Given the description of an element on the screen output the (x, y) to click on. 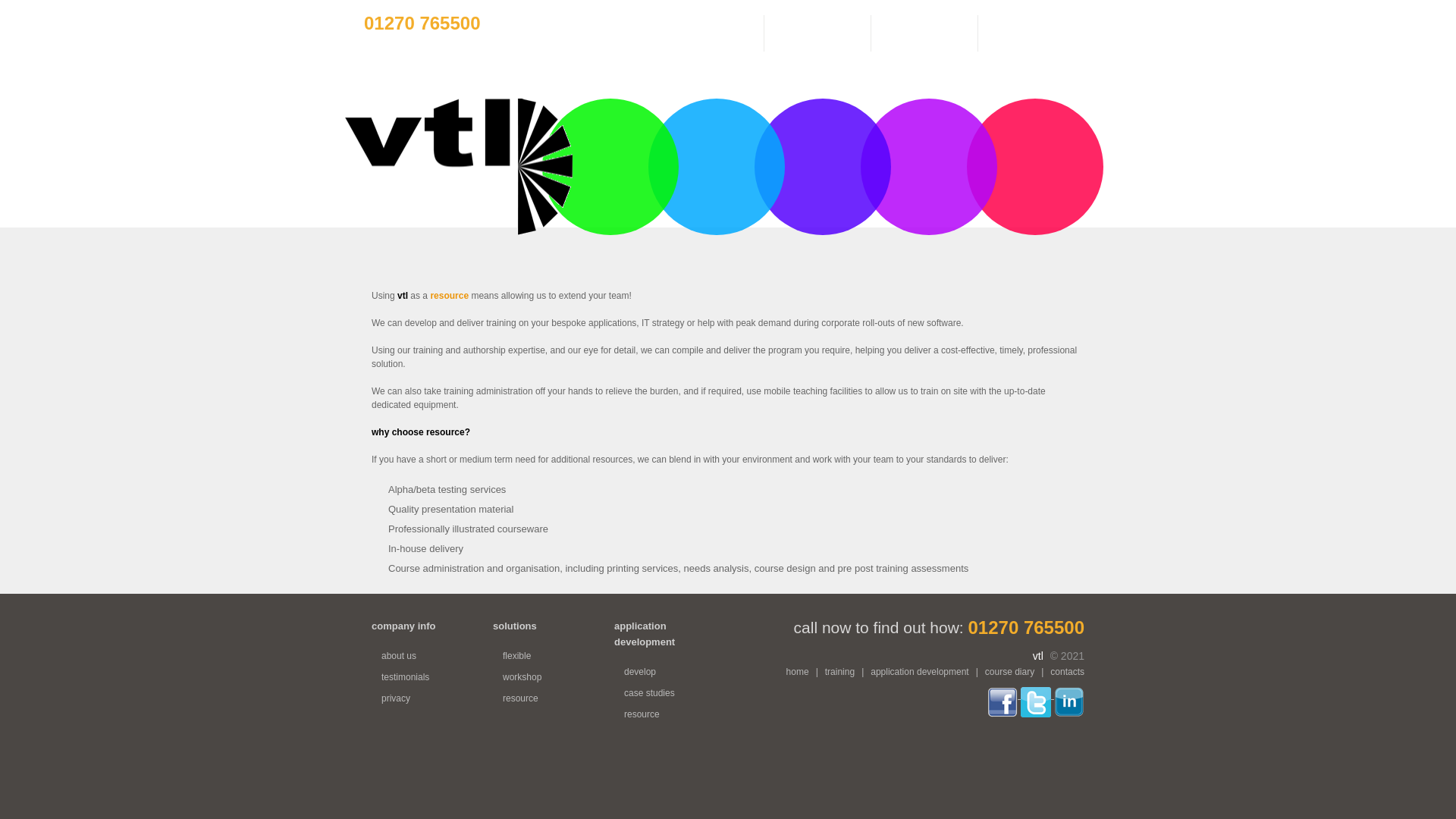
case studies (649, 692)
resource (520, 697)
home (797, 671)
workshop (521, 676)
flexible (516, 655)
testimonials (405, 676)
linkedin (1069, 694)
resource (641, 714)
application development (919, 671)
develop (640, 671)
contacts (1066, 671)
course diary (1009, 671)
privacy (395, 697)
training (839, 671)
about us (398, 655)
